Given the description of an element on the screen output the (x, y) to click on. 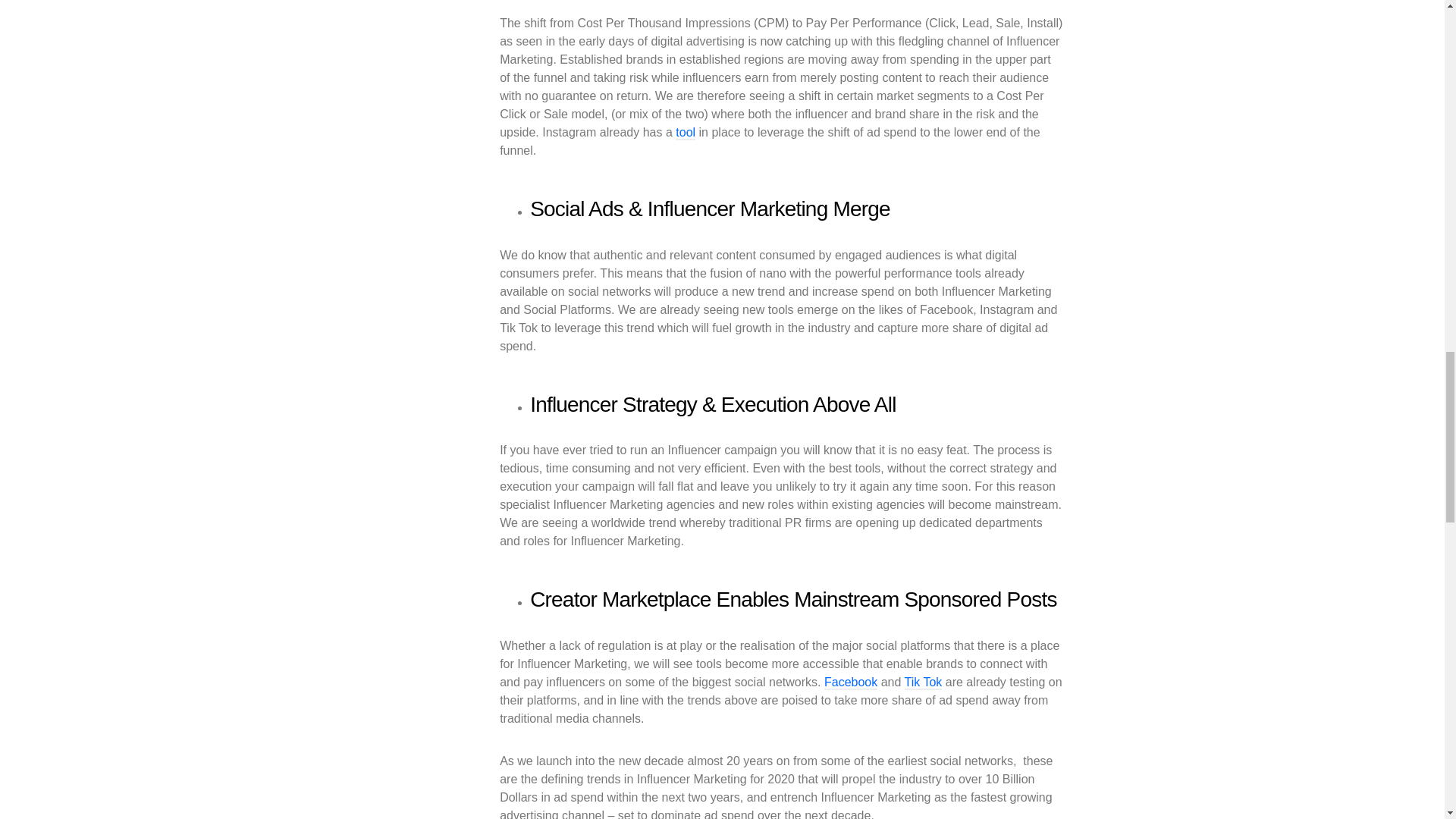
Tik Tok (923, 682)
Facebook (850, 682)
tool (685, 133)
